Given the description of an element on the screen output the (x, y) to click on. 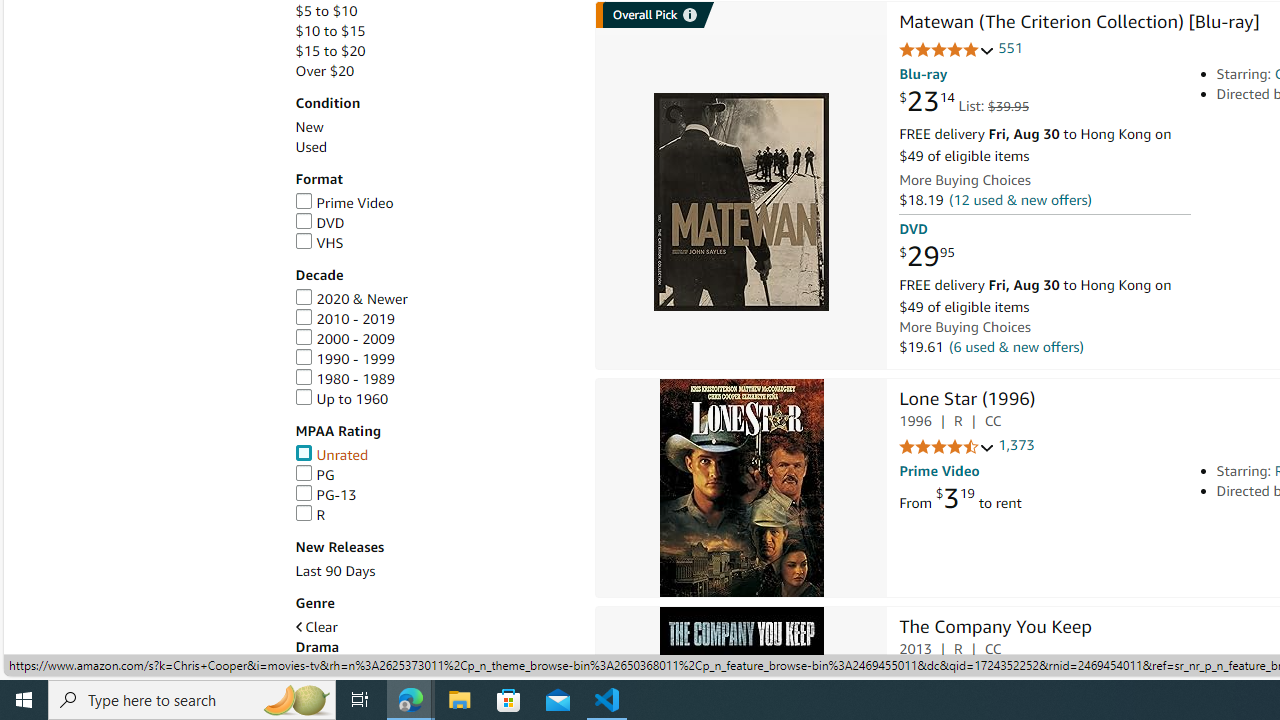
2010 - 2019 (344, 318)
1990 - 1999 (434, 359)
$29.95 (926, 257)
Over $20 (434, 71)
R (434, 515)
New (308, 127)
VHS (434, 242)
2000 - 2009 (344, 339)
The Company You Keep (994, 628)
Clear (434, 627)
Go back to filtering menu (84, 666)
From $3.19 to rent (959, 498)
Drama (434, 647)
$23.14 List: $39.95 (964, 102)
1,373 (1016, 445)
